Given the description of an element on the screen output the (x, y) to click on. 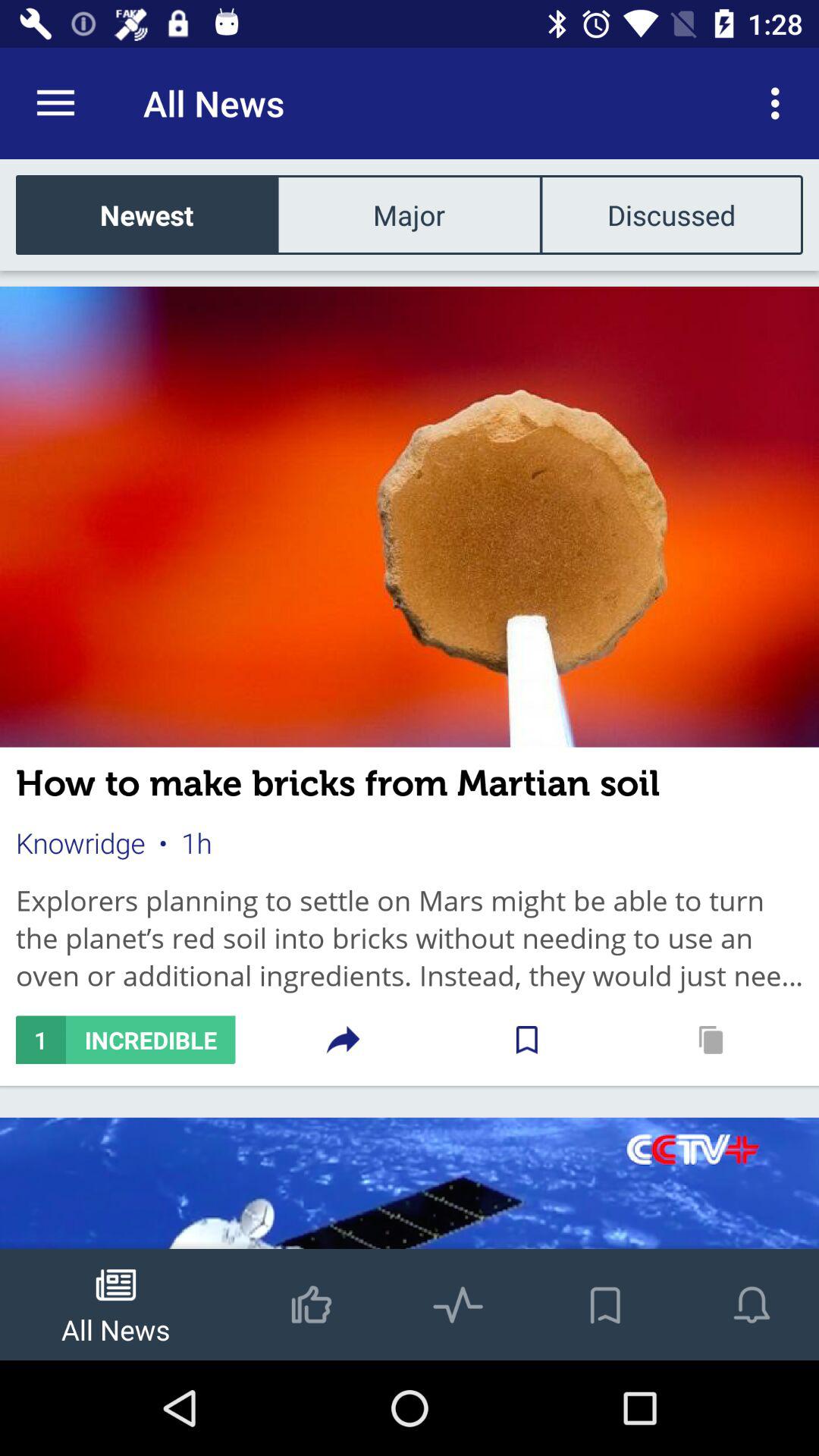
launch icon above newest icon (55, 103)
